Given the description of an element on the screen output the (x, y) to click on. 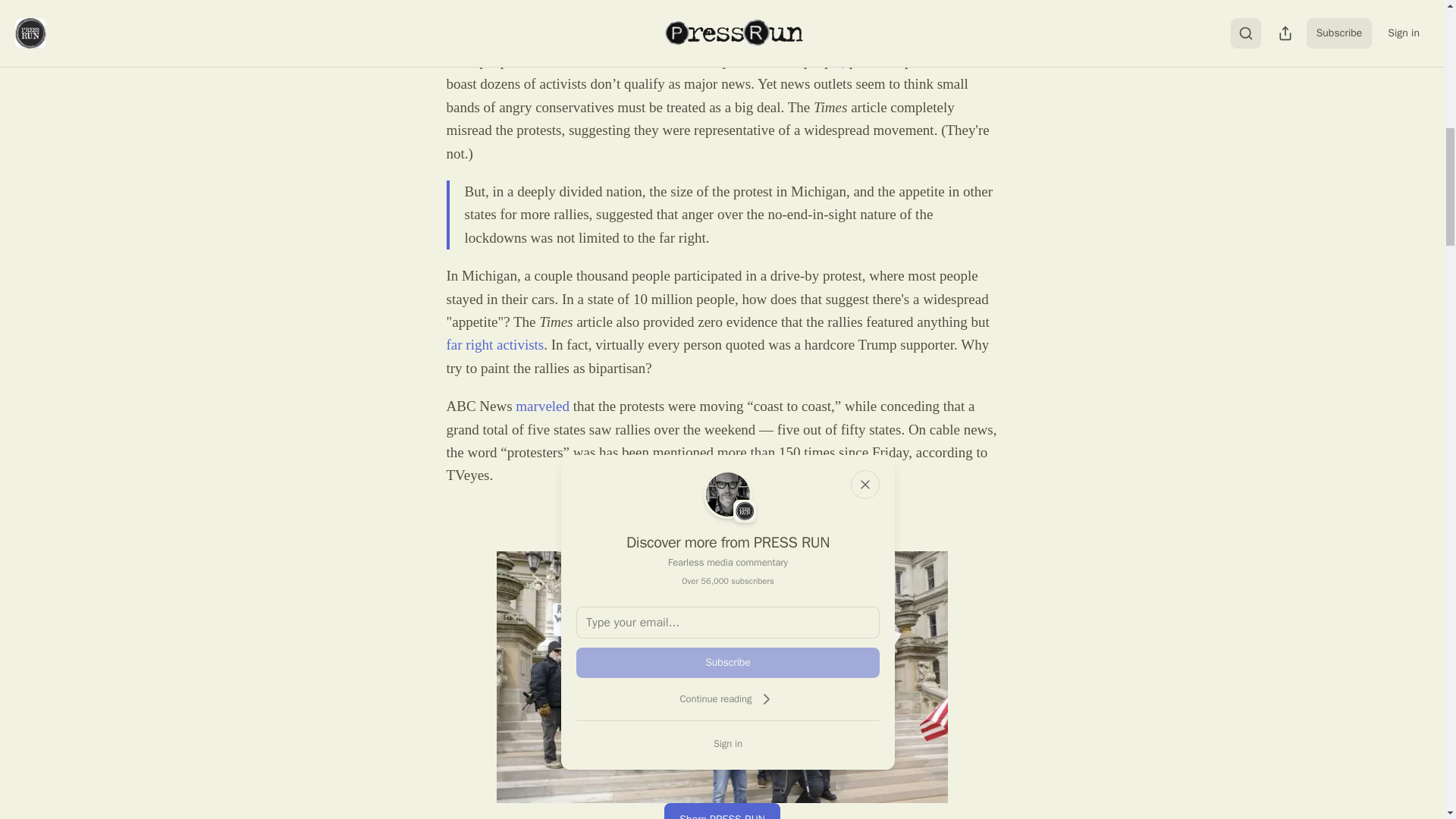
far right activists (494, 344)
marveled (542, 406)
Subscribe (727, 662)
a bright spotlight (713, 3)
Subscribe to PRESS RUN (722, 519)
Share PRESS RUN (721, 811)
Sign in (727, 743)
